Given the description of an element on the screen output the (x, y) to click on. 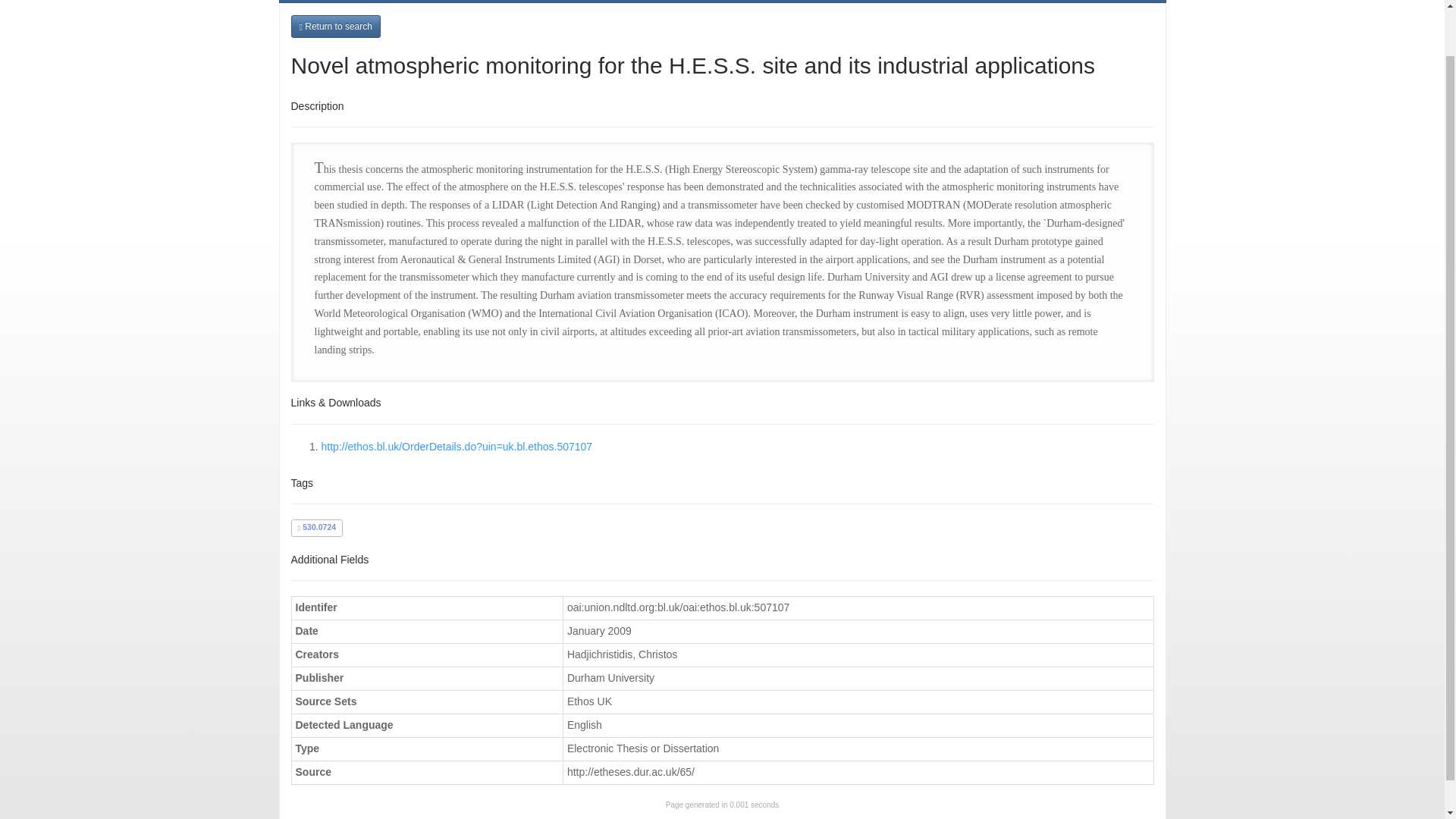
NDLTD Global ETD Search (389, 1)
Return to search (335, 26)
New Search (528, 1)
530.0724 (316, 526)
